Given the description of an element on the screen output the (x, y) to click on. 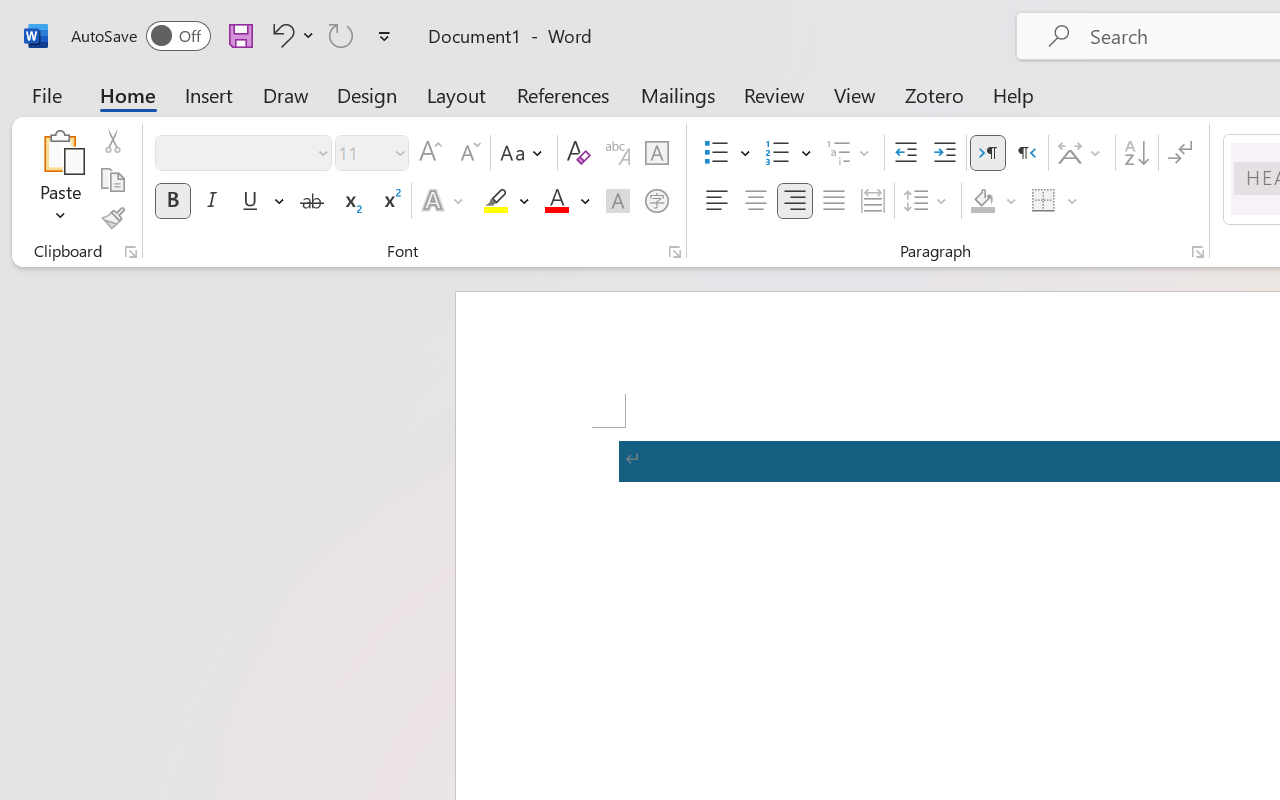
Right-to-Left (1026, 153)
Text Highlight Color RGB(255, 255, 0) (495, 201)
